Given the description of an element on the screen output the (x, y) to click on. 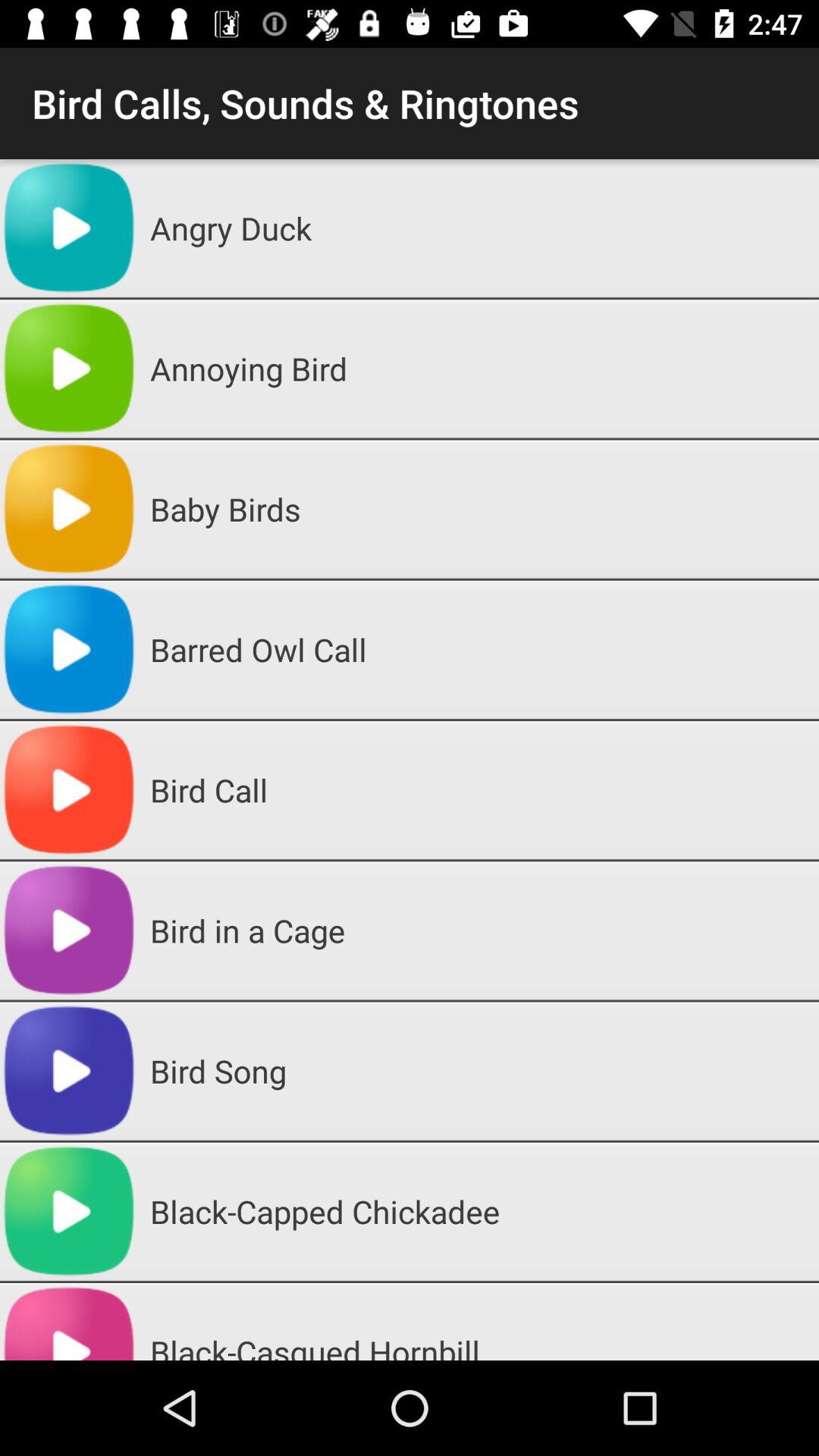
turn off annoying bird app (478, 368)
